Given the description of an element on the screen output the (x, y) to click on. 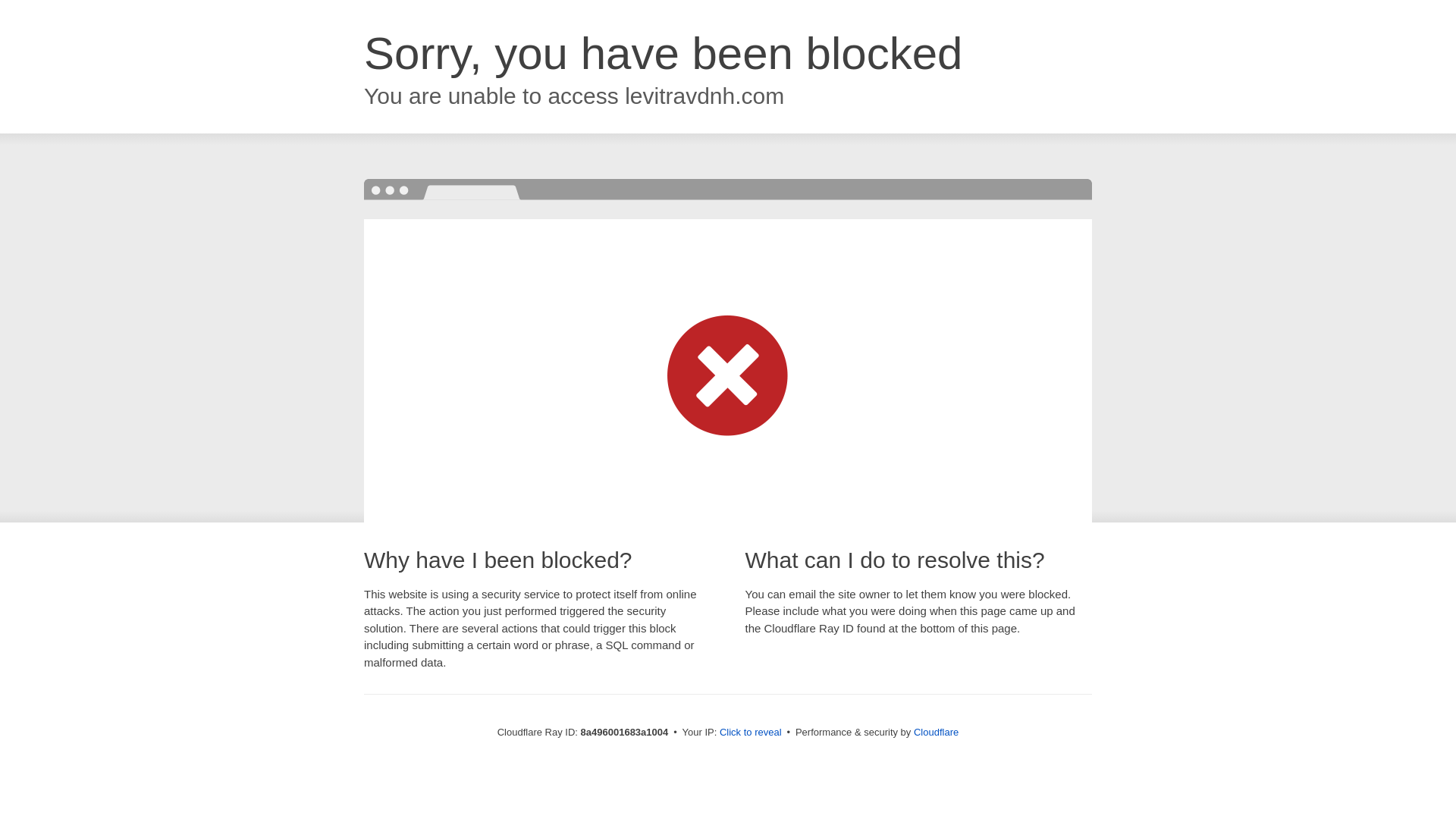
Click to reveal (750, 732)
Cloudflare (936, 731)
